Given the description of an element on the screen output the (x, y) to click on. 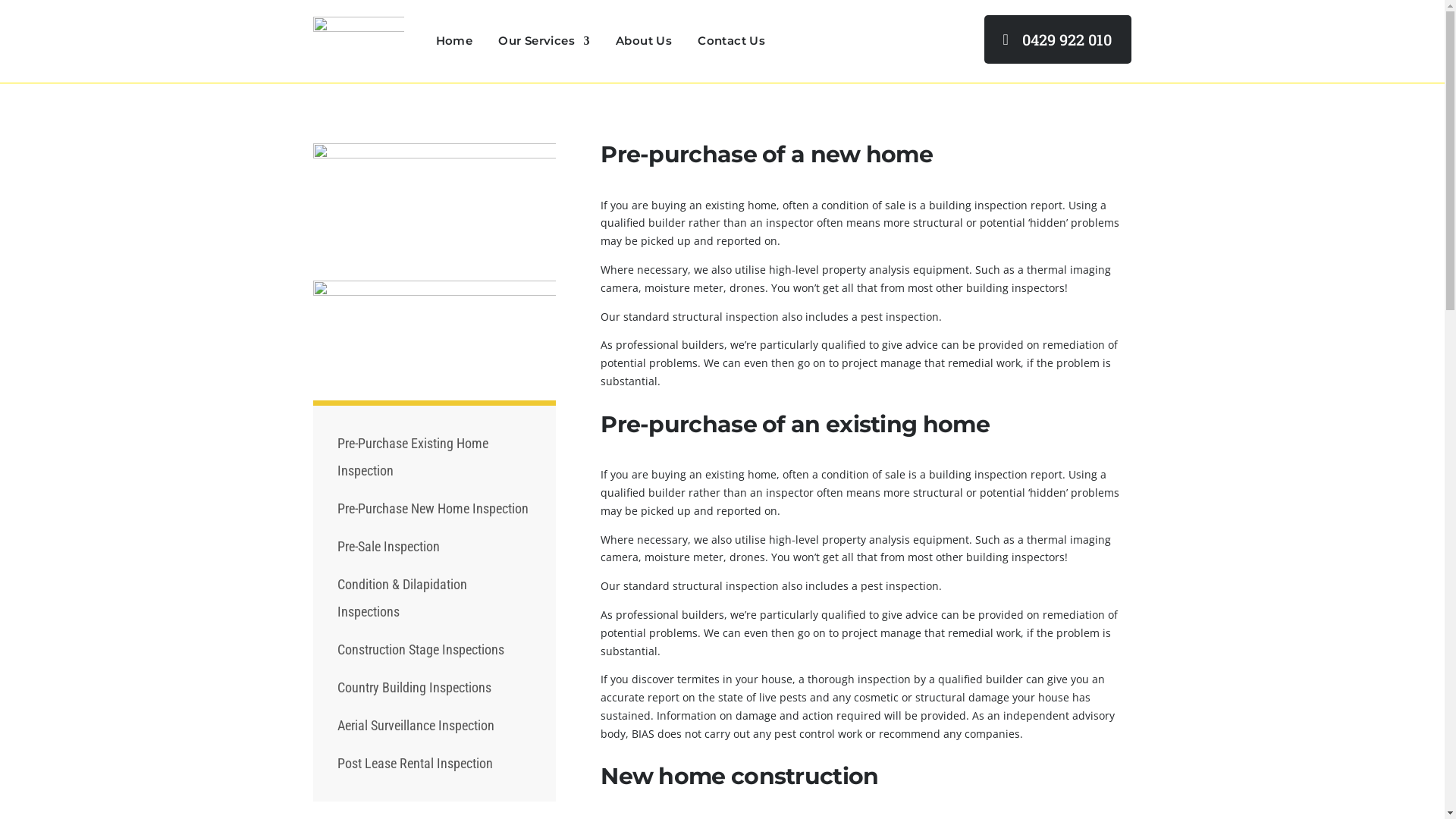
experience Element type: hover (433, 200)
Pre-Purchase Existing Home Inspection Element type: text (412, 456)
Construction Stage Inspections Element type: text (420, 649)
Home Element type: text (453, 40)
About Us Element type: text (643, 40)
Condition & Dilapidation Inspections Element type: text (402, 597)
Country Building Inspections Element type: text (414, 687)
Contact Us Element type: text (731, 40)
Our Services Element type: text (543, 40)
Pre-Purchase New Home Inspection Element type: text (432, 508)
0429 922 010 Element type: text (1057, 39)
insurance Element type: hover (433, 329)
Aerial Surveillance Inspection Element type: text (415, 725)
Pre-Sale Inspection Element type: text (388, 546)
Post Lease Rental Inspection Element type: text (414, 763)
